Given the description of an element on the screen output the (x, y) to click on. 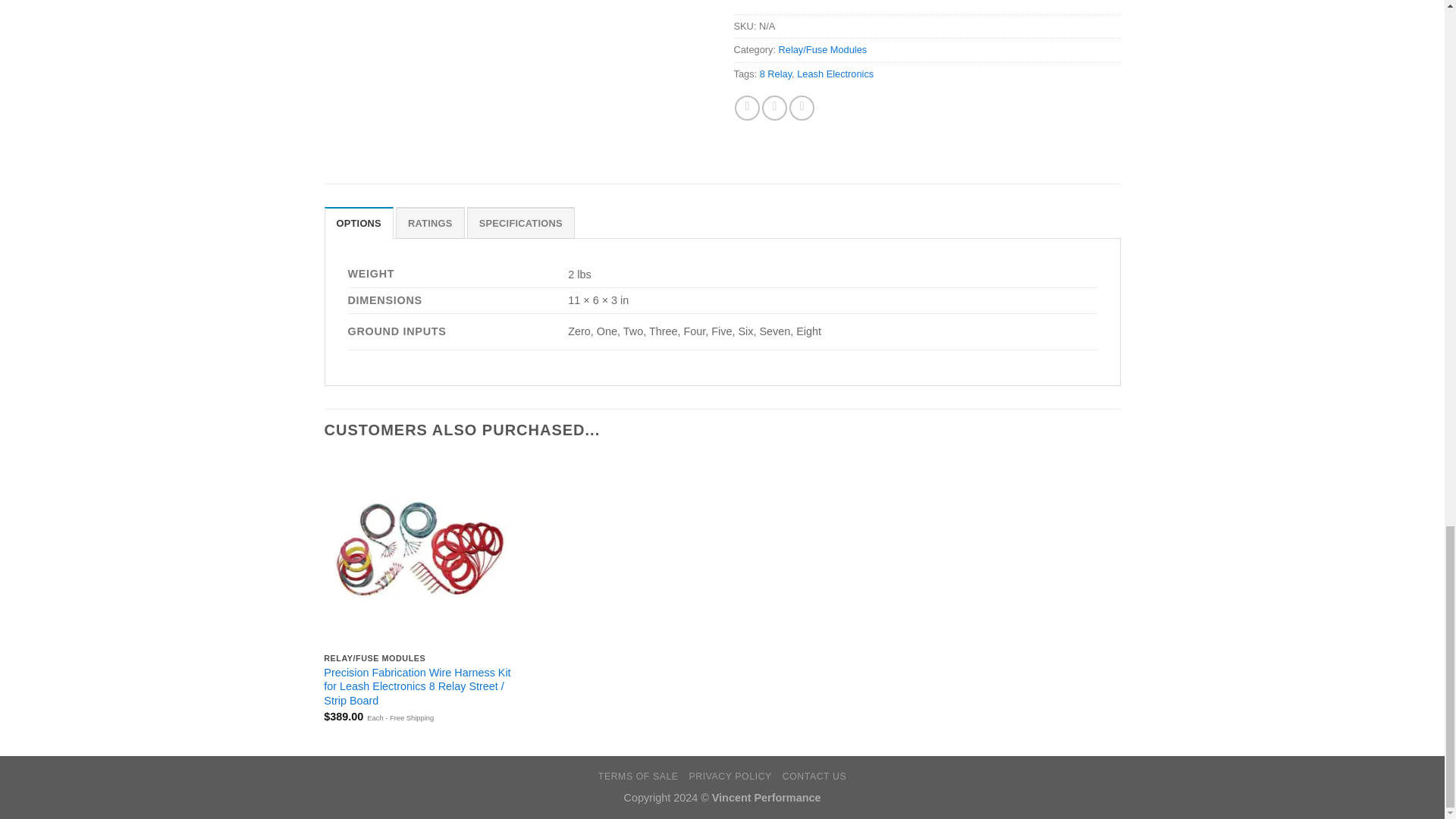
Share on Facebook (747, 107)
Email to a Friend (801, 107)
Share on Twitter (774, 107)
